Given the description of an element on the screen output the (x, y) to click on. 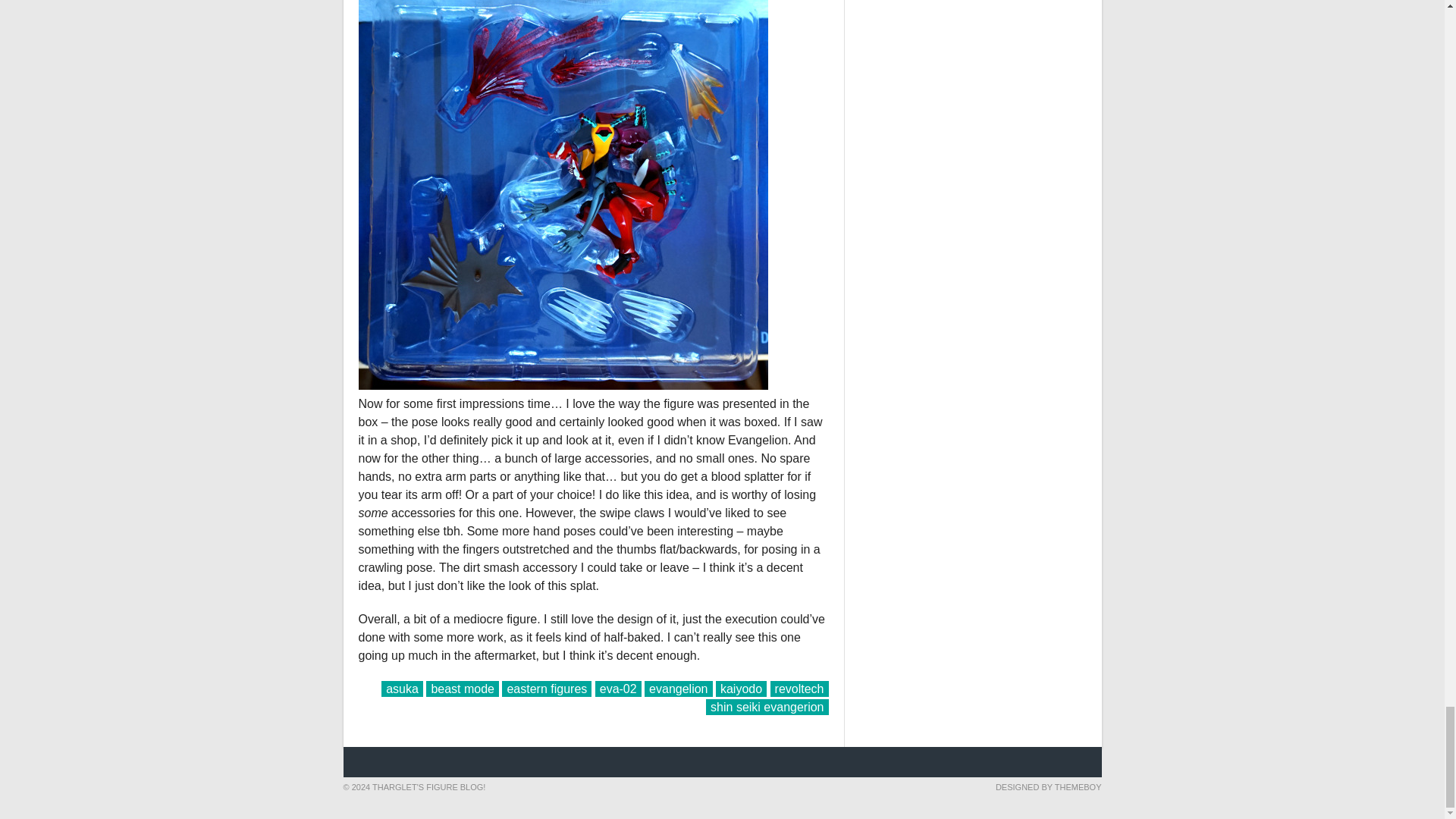
asuka (402, 688)
shin seiki evangerion (767, 706)
eva-02 (618, 688)
beast mode (462, 688)
evangelion (678, 688)
eastern figures (546, 688)
revoltech (799, 688)
kaiyodo (741, 688)
